Given the description of an element on the screen output the (x, y) to click on. 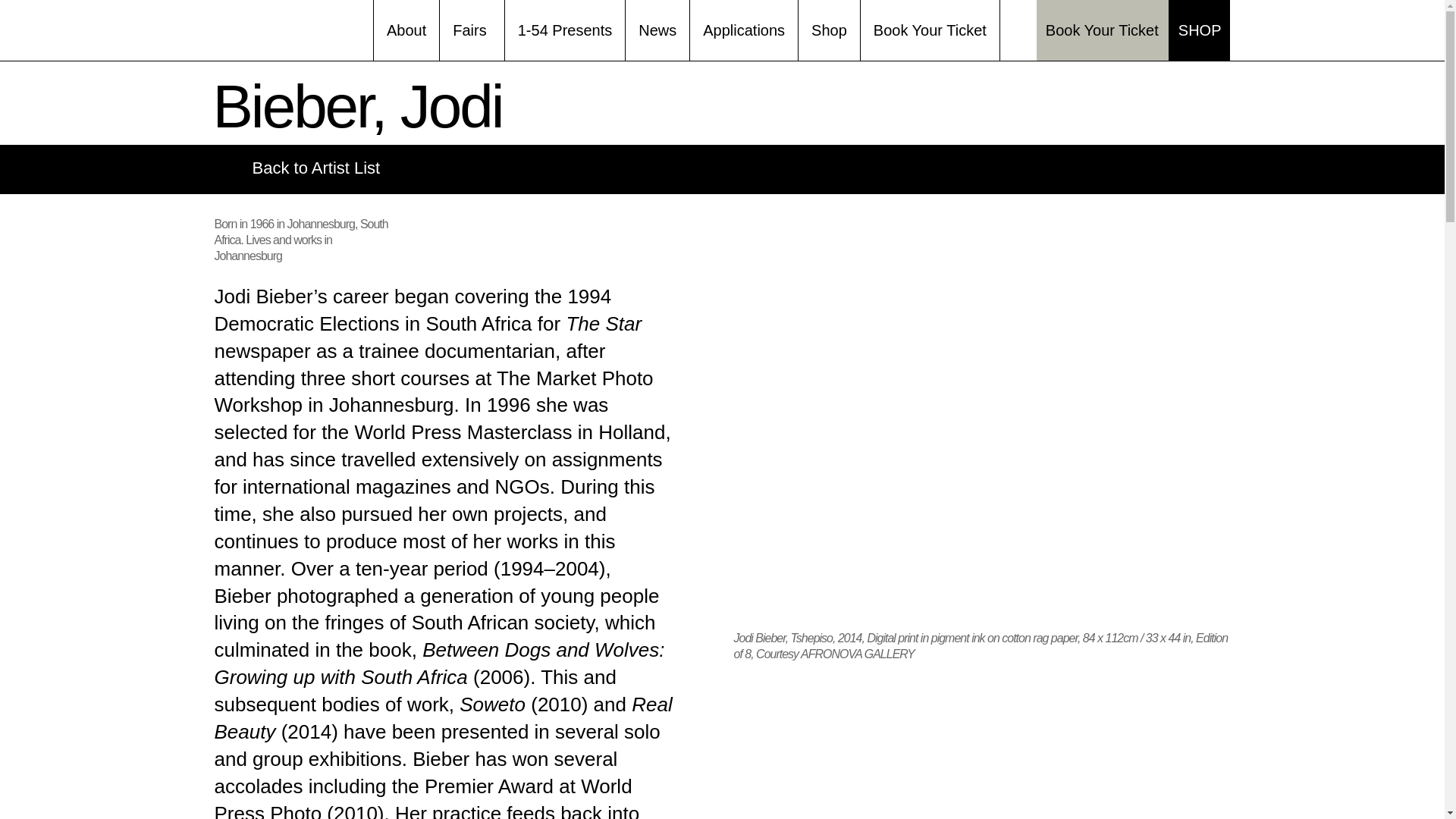
Book Your Ticket (1102, 30)
News (657, 30)
Fairs (471, 30)
1-54 Presents (565, 30)
Shop (828, 30)
search (1019, 25)
SHOP (1199, 30)
Back to Artist List (297, 167)
Applications (743, 30)
Book Your Ticket (929, 30)
About (406, 30)
